Given the description of an element on the screen output the (x, y) to click on. 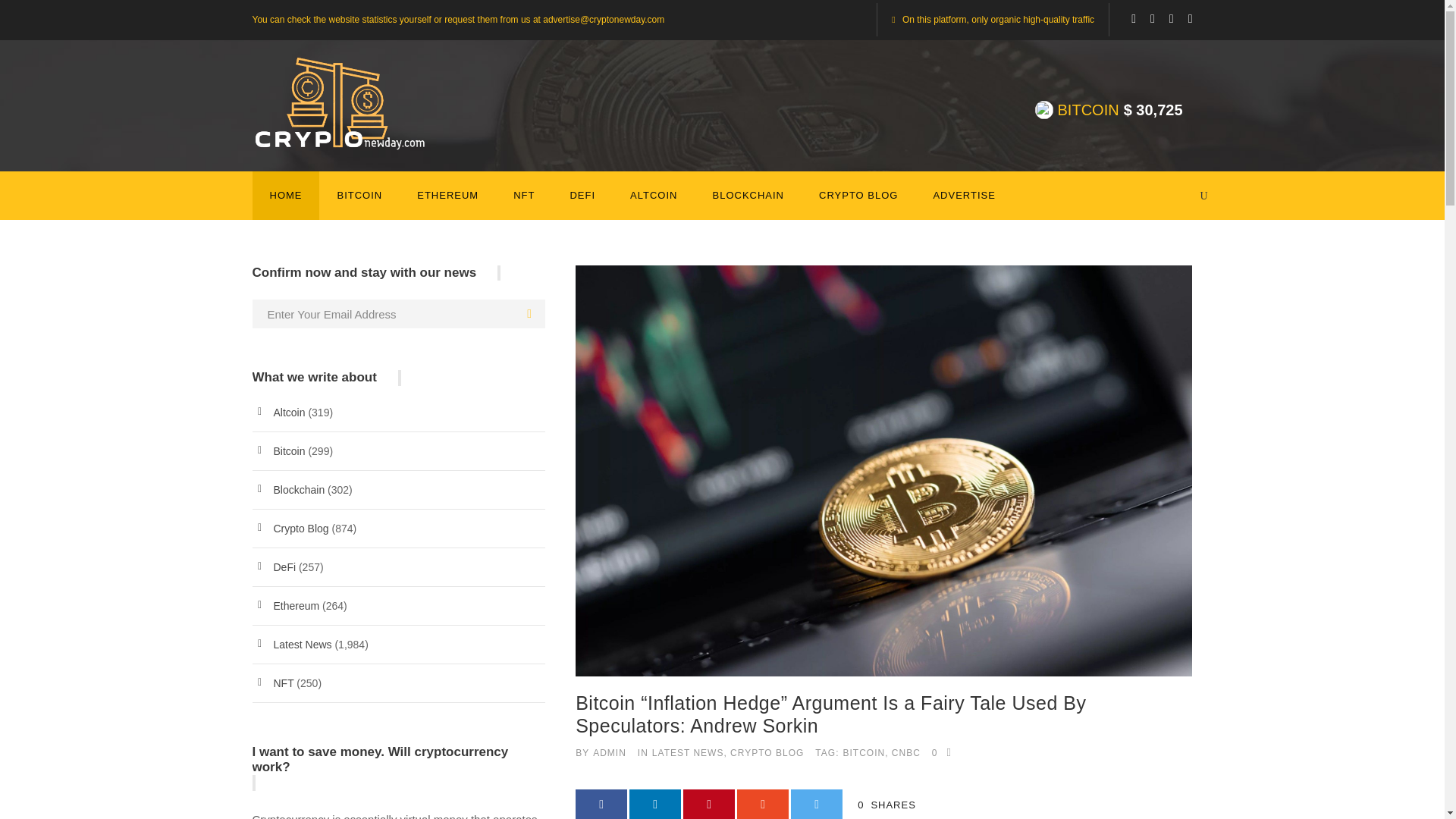
HOME (285, 203)
CNBC (905, 752)
CRYPTO BLOG (858, 203)
LATEST NEWS (687, 752)
Posts by admin (609, 752)
ADMIN (609, 752)
ETHEREUM (447, 203)
BLOCKCHAIN (747, 203)
BITCOIN (864, 752)
ALTCOIN (653, 203)
BITCOIN (358, 203)
ADVERTISE (963, 203)
CRYPTO BLOG (766, 752)
